Given the description of an element on the screen output the (x, y) to click on. 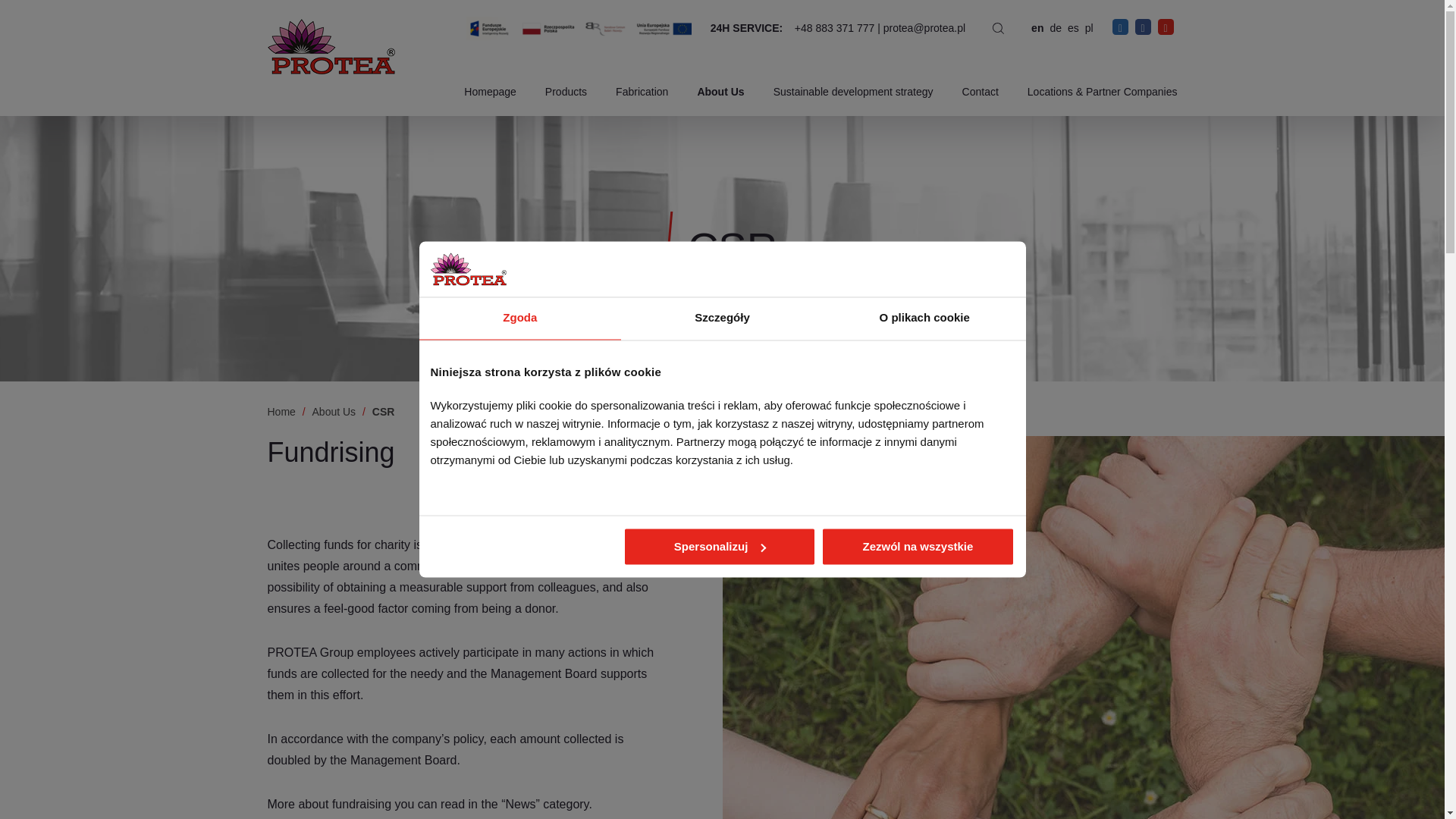
Products (565, 91)
es (1072, 28)
Homepage (490, 91)
Fabrication (641, 91)
Contact (980, 91)
en (1036, 28)
About Us (720, 91)
youtube (1165, 26)
facebook (1143, 26)
